Given the description of an element on the screen output the (x, y) to click on. 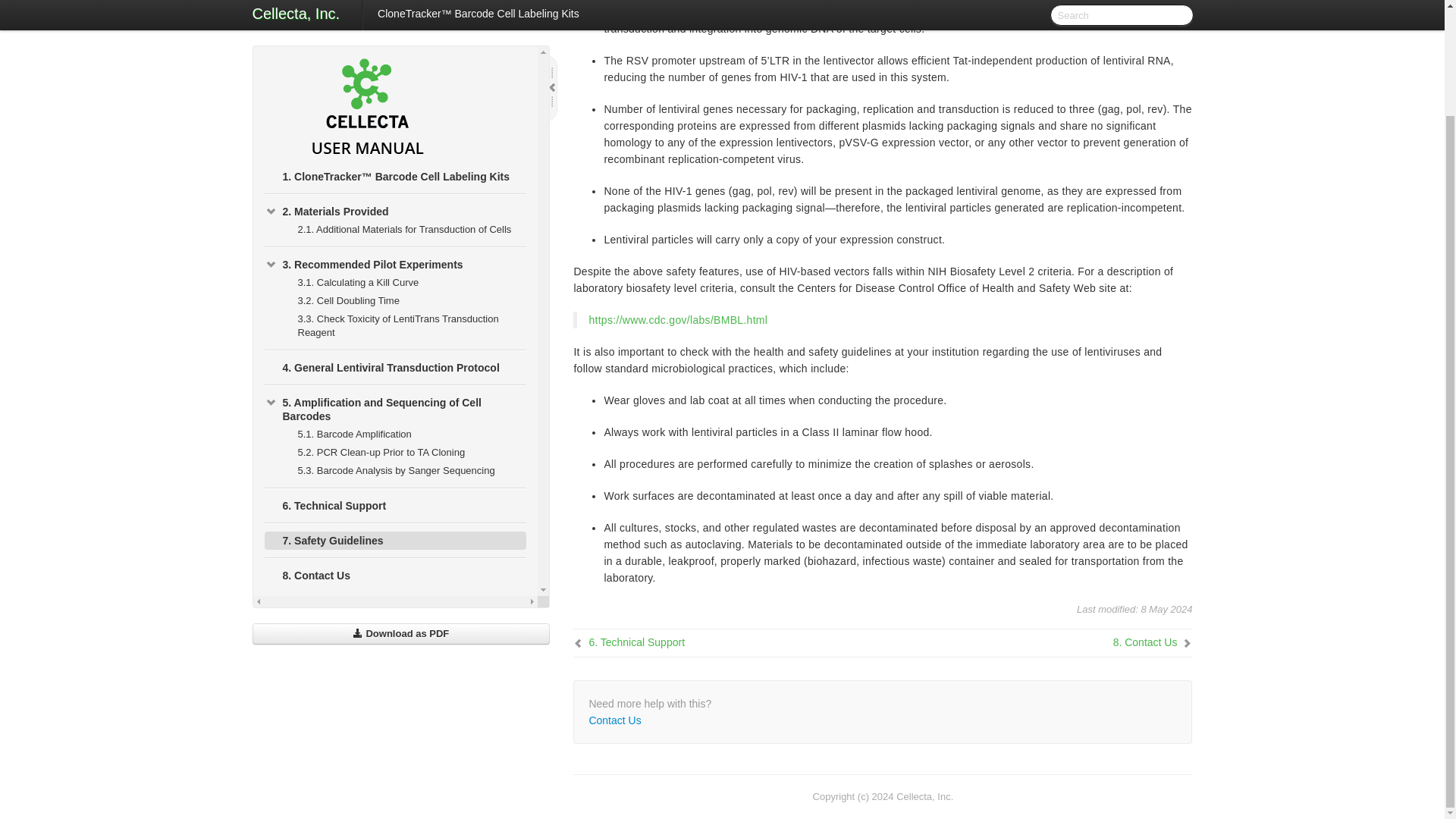
4. General Lentiviral Transduction Protocol (394, 244)
5.3. Barcode Analysis by Sanger Sequencing (402, 347)
5. Amplification and Sequencing of Cell Barcodes (394, 286)
3.1. Calculating a Kill Curve (402, 158)
7. Safety Guidelines (394, 416)
3. Recommended Pilot Experiments (394, 140)
2.1. Additional Materials for Transduction of Cells (402, 106)
3.2. Cell Doubling Time (402, 177)
5.1. Barcode Amplification (402, 311)
5.2. PCR Clean-up Prior to TA Cloning (402, 329)
8. Contact Us (394, 452)
3.3. Check Toxicity of LentiTrans Transduction Reagent (402, 202)
2. Materials Provided (394, 87)
Download as PDF (399, 509)
6. Technical Support (394, 382)
